Given the description of an element on the screen output the (x, y) to click on. 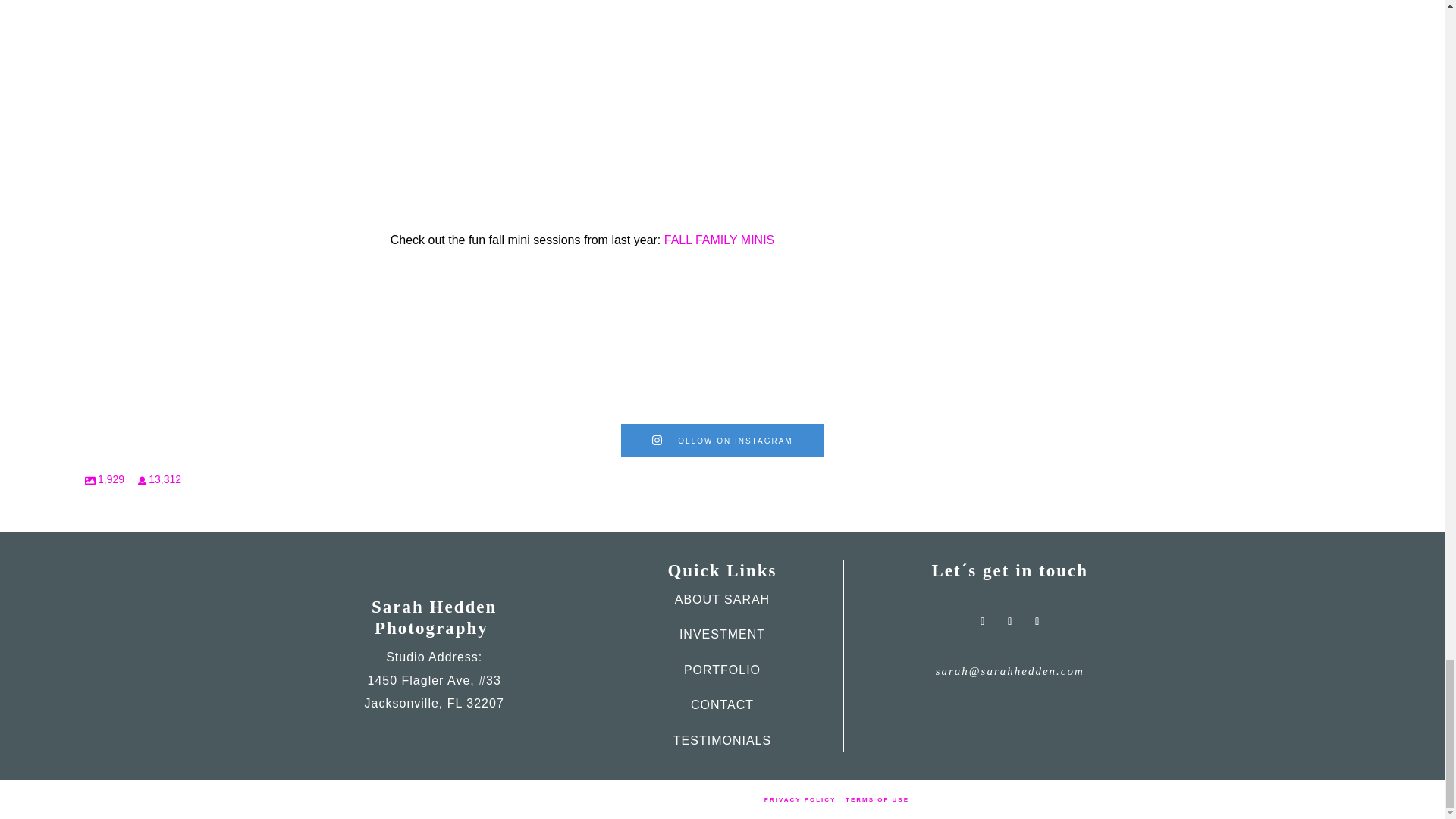
Follow on Facebook (982, 621)
Follow on Instagram (1009, 621)
Follow on Pinterest (1037, 621)
